Given the description of an element on the screen output the (x, y) to click on. 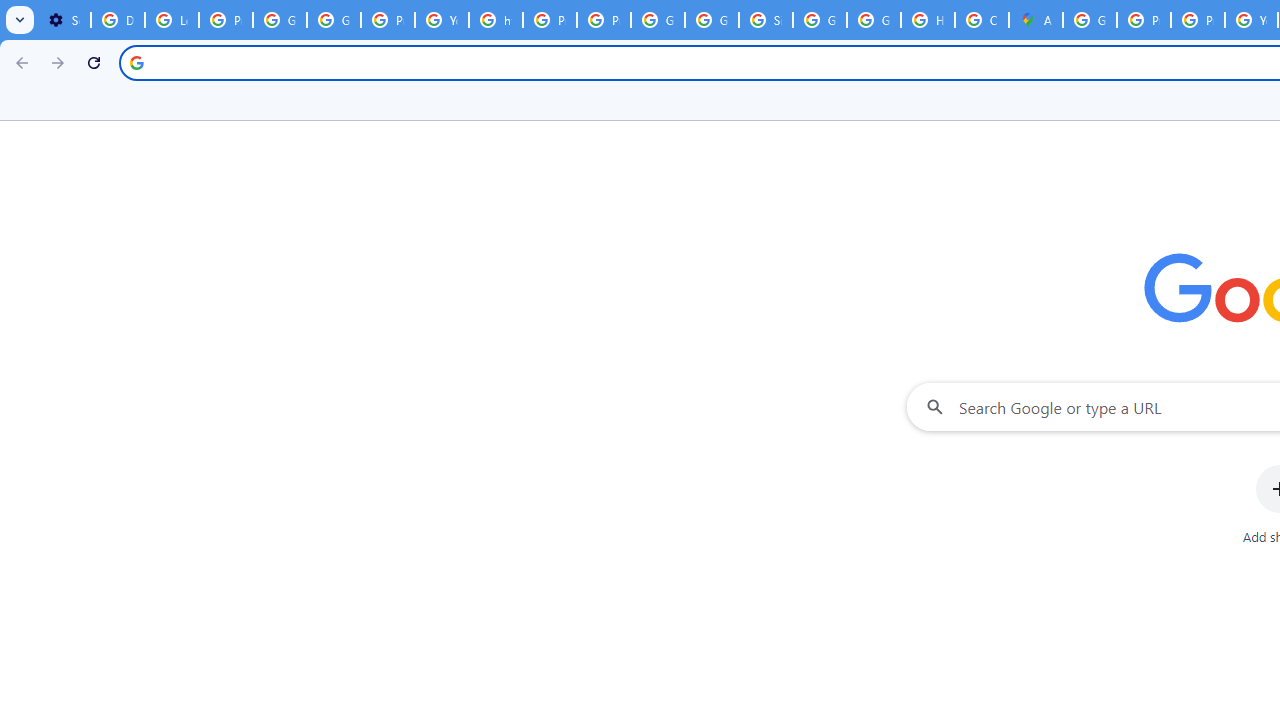
Create your Google Account (981, 20)
Sign in - Google Accounts (765, 20)
Settings - Performance (63, 20)
